Given the description of an element on the screen output the (x, y) to click on. 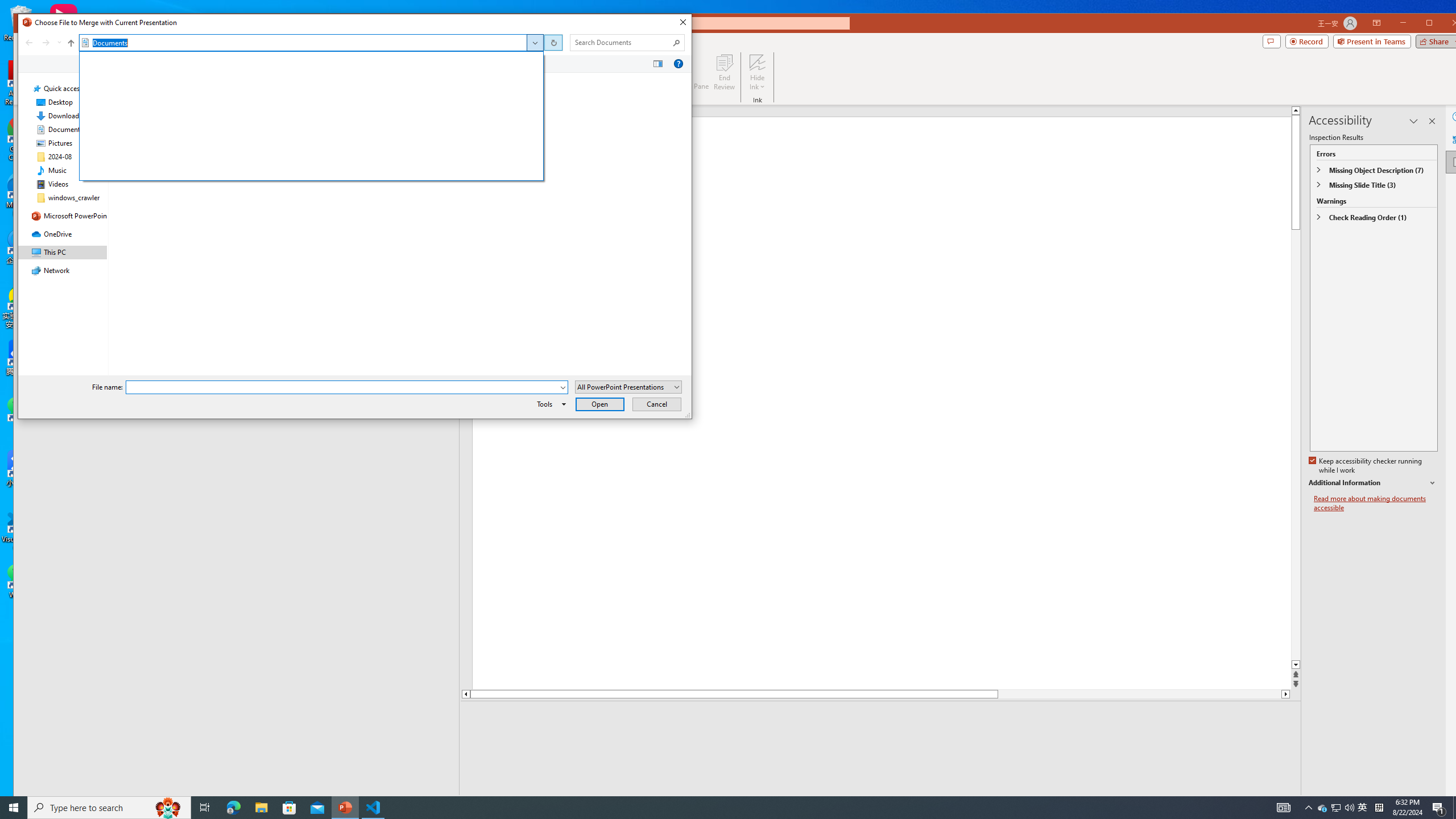
Forward (Alt + Right Arrow) (46, 42)
Filter dropdown (453, 79)
Running applications (700, 807)
Custom Office Templates (286, 96)
Tray Input Indicator - Chinese (Simplified, China) (1335, 807)
Additional Information (1378, 807)
Up to "This PC" (Alt + Up Arrow) (1362, 807)
Tools (1373, 482)
